Given the description of an element on the screen output the (x, y) to click on. 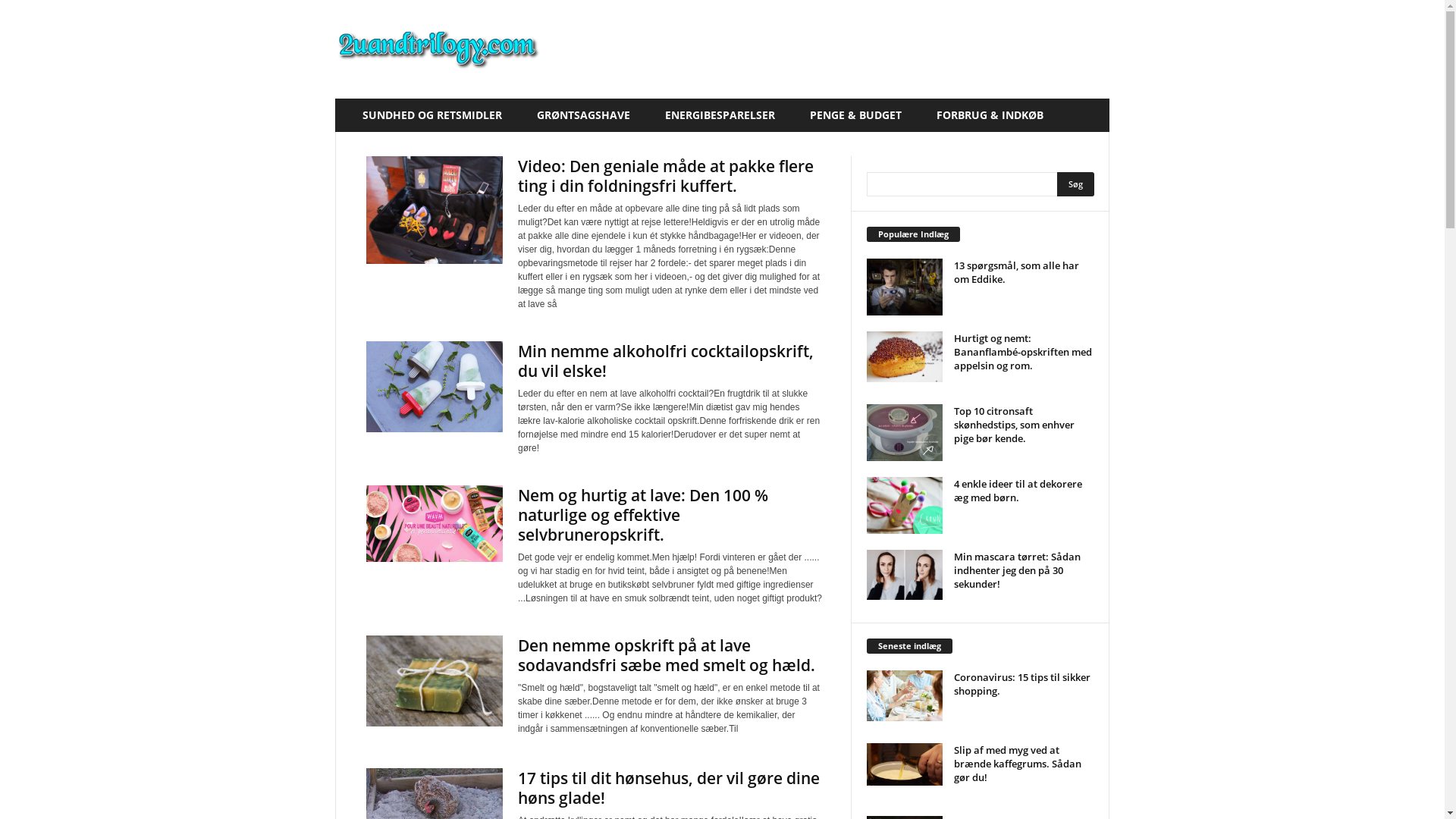
SUNDHED OG RETSMIDLER Element type: text (438, 114)
2uandtrilogy.com Element type: text (438, 49)
Min nemme alkoholfri cocktailopskrift, du vil elske! Element type: text (665, 360)
Min nemme alkoholfri cocktailopskrift, du vil elske! Element type: hover (434, 386)
ENERGIBESPARELSER Element type: text (725, 114)
Coronavirus: 15 tips til sikker shopping. Element type: text (1021, 683)
PENGE & BUDGET Element type: text (861, 114)
